Given the description of an element on the screen output the (x, y) to click on. 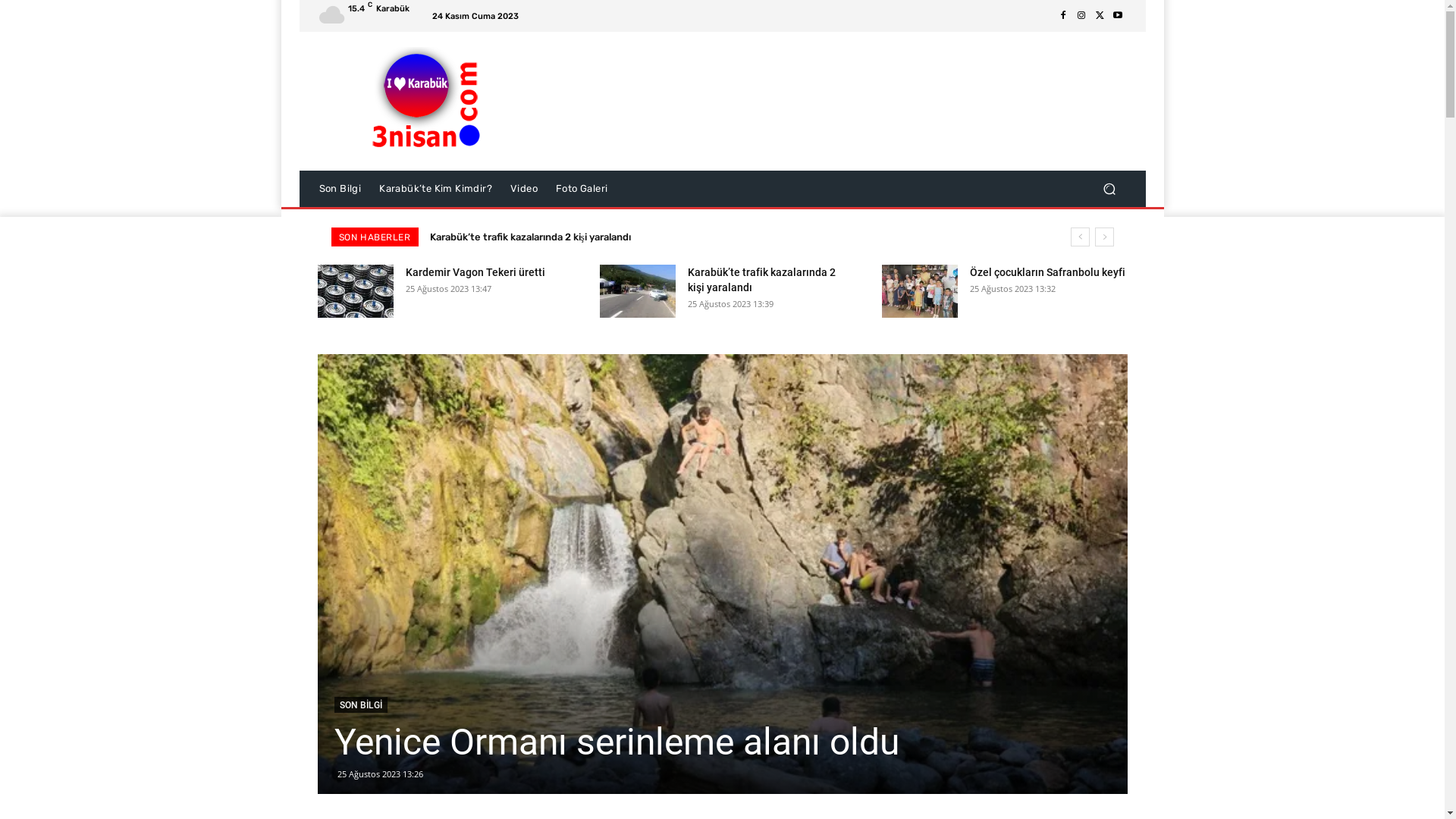
SON BILGI Element type: text (359, 704)
Foto Galeri Element type: text (581, 188)
Instagram Element type: hover (1081, 15)
Facebook Element type: hover (1063, 15)
Son Bilgi Element type: text (339, 188)
Youtube Element type: hover (1117, 15)
Twitter Element type: hover (1099, 15)
Video Element type: text (523, 188)
